Given the description of an element on the screen output the (x, y) to click on. 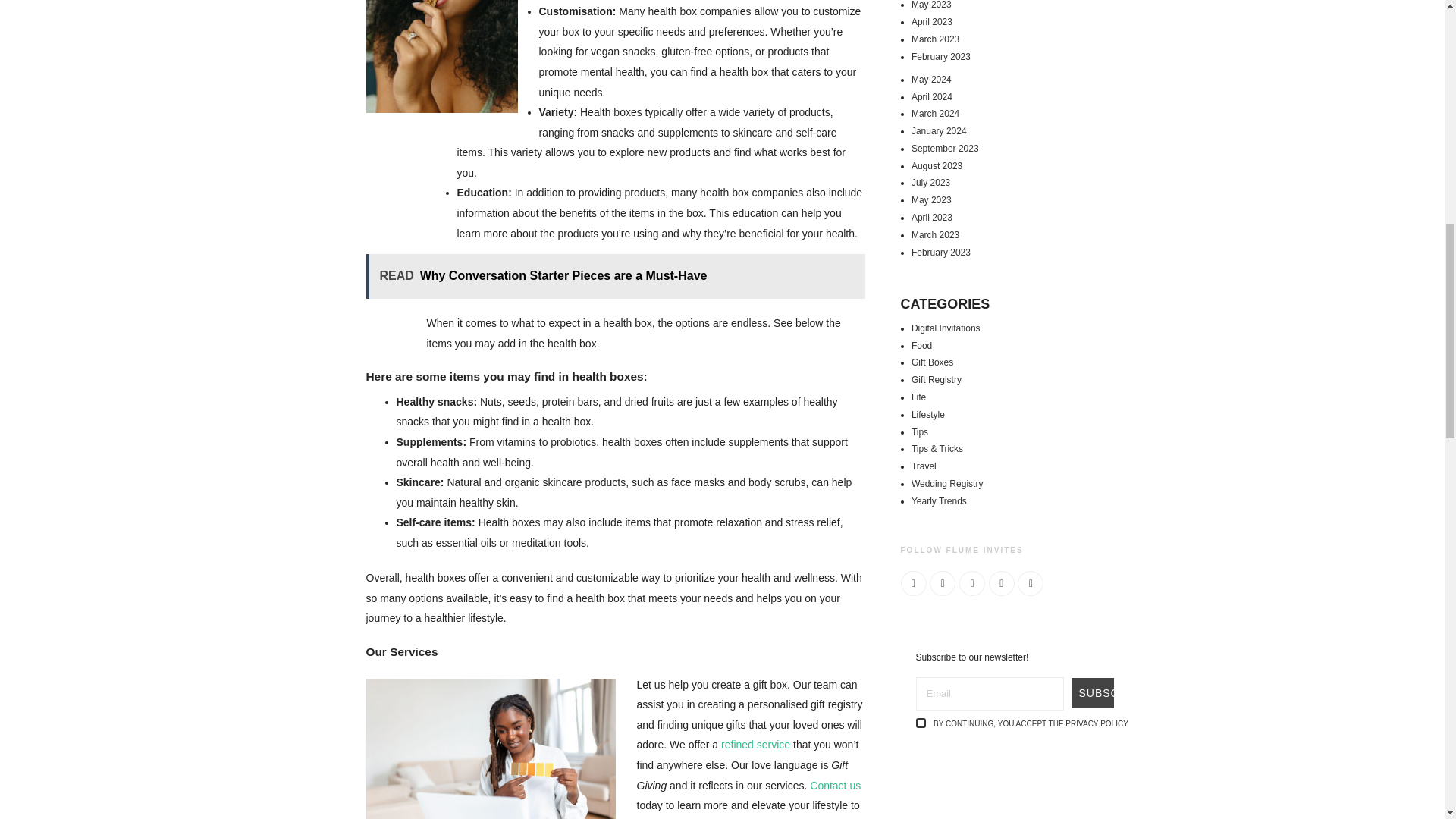
Contact us (834, 785)
refined service (755, 744)
Subscribe (1091, 693)
READ  Why Conversation Starter Pieces are a Must-Have (614, 275)
on (920, 723)
